Given the description of an element on the screen output the (x, y) to click on. 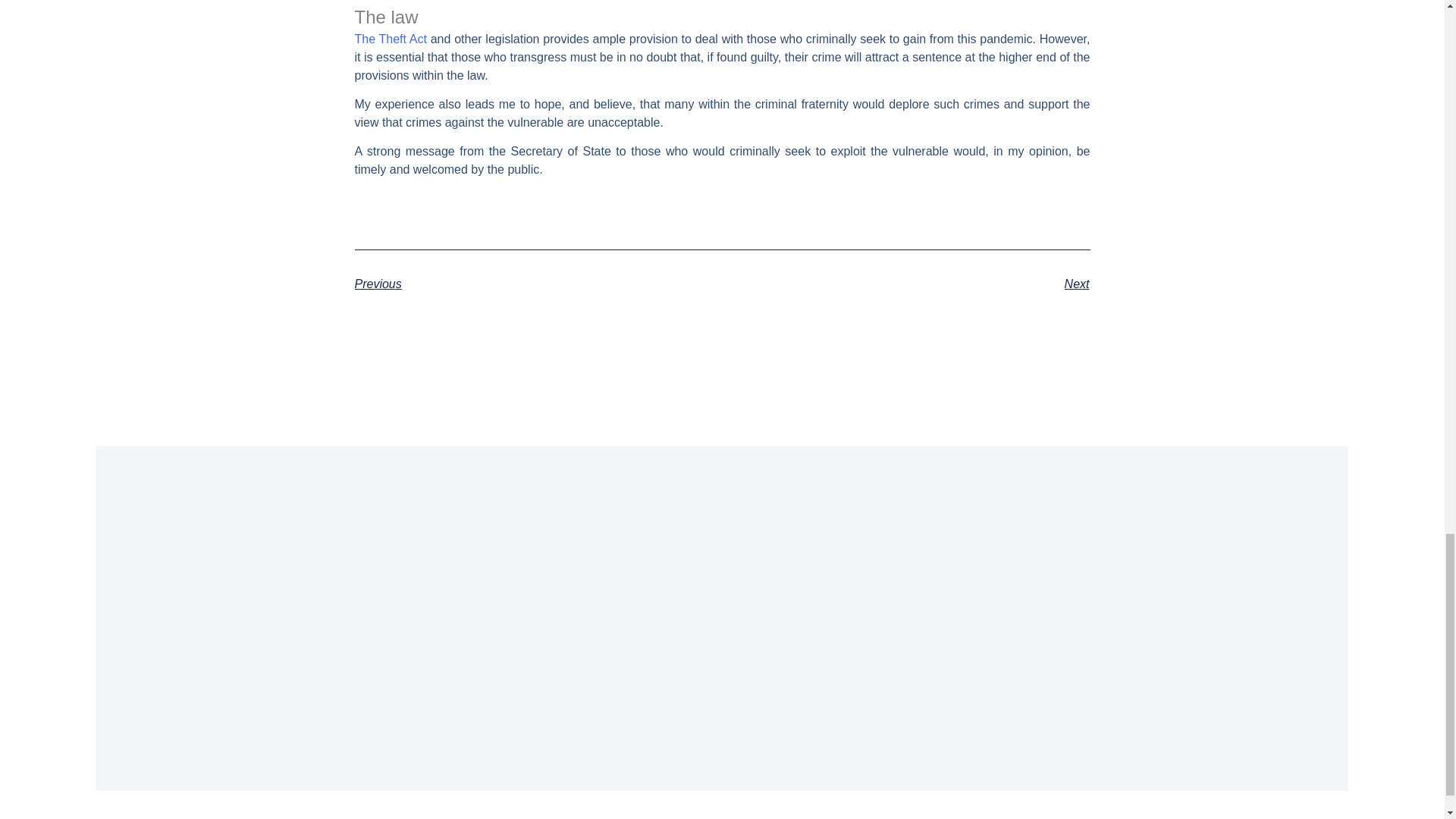
Previous (538, 283)
The Theft Act (390, 38)
Next (905, 283)
